Given the description of an element on the screen output the (x, y) to click on. 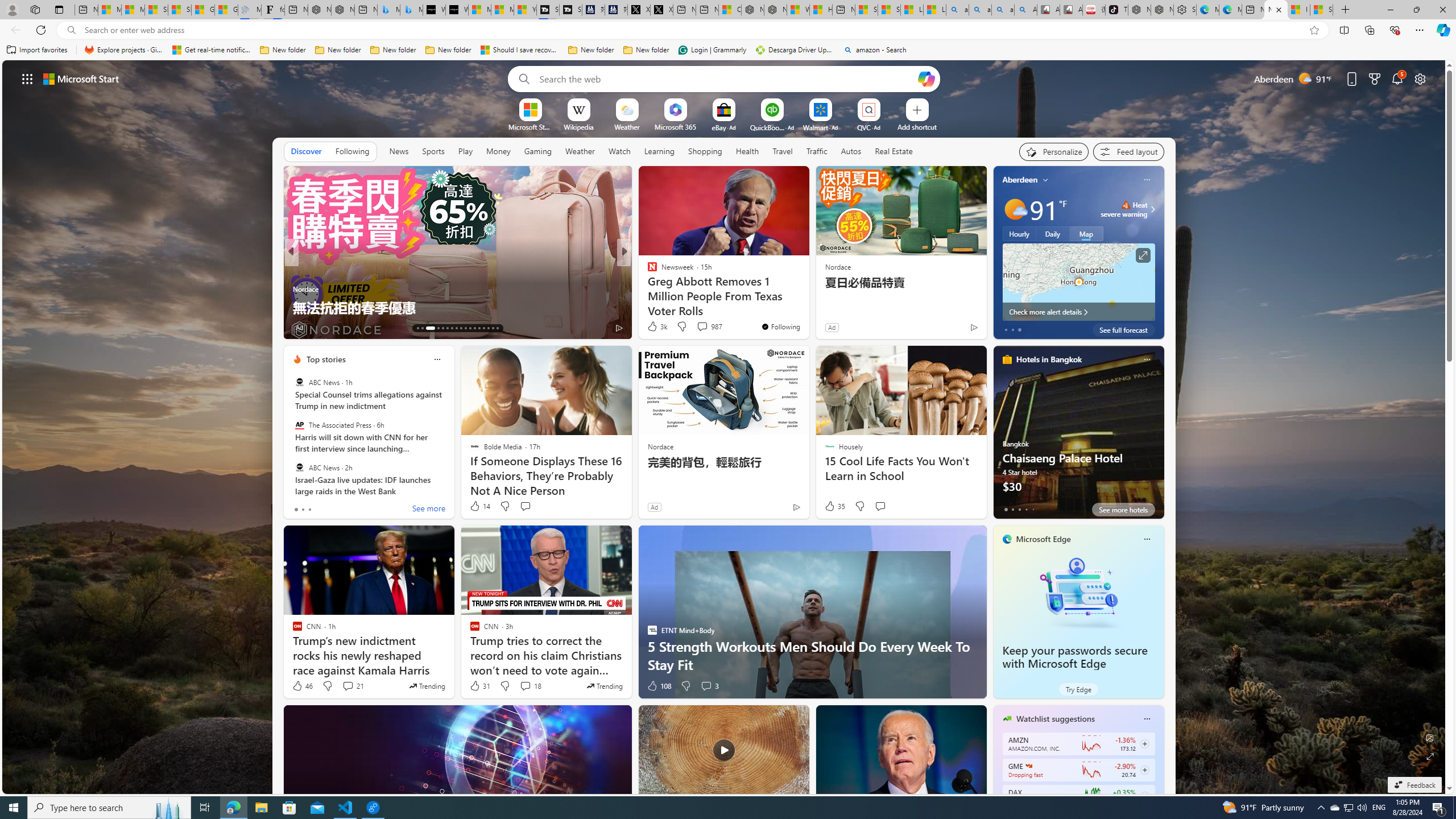
Shopping (705, 151)
ABC News (299, 466)
View comments 21 Comment (347, 685)
View comments 21 Comment (352, 685)
tab-1 (1012, 509)
View comments 2 Comment (698, 327)
Mostly sunny (1014, 208)
Favorites bar (728, 49)
AutomationID: tab-25 (478, 328)
